Given the description of an element on the screen output the (x, y) to click on. 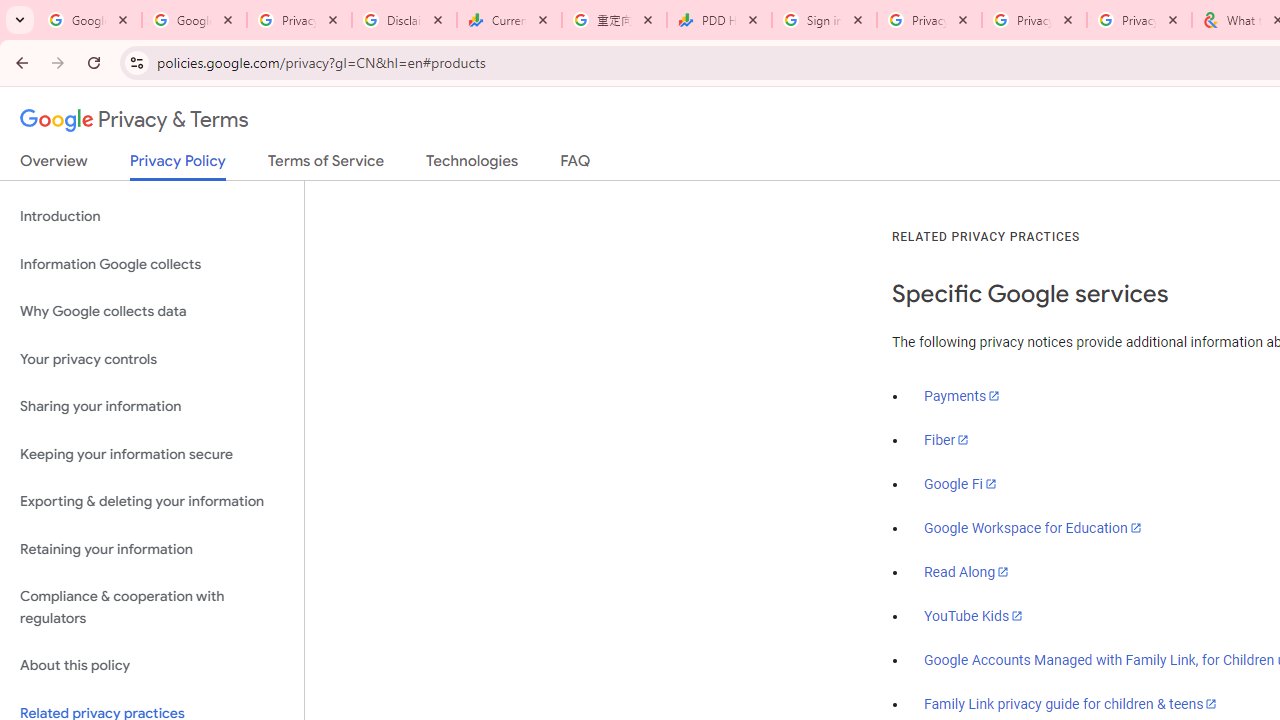
Keeping your information secure (152, 453)
Read Along (966, 572)
Google Workspace for Education (1032, 528)
YouTube Kids (974, 615)
Compliance & cooperation with regulators (152, 607)
Privacy Checkup (1138, 20)
Retaining your information (152, 548)
Currencies - Google Finance (509, 20)
